Given the description of an element on the screen output the (x, y) to click on. 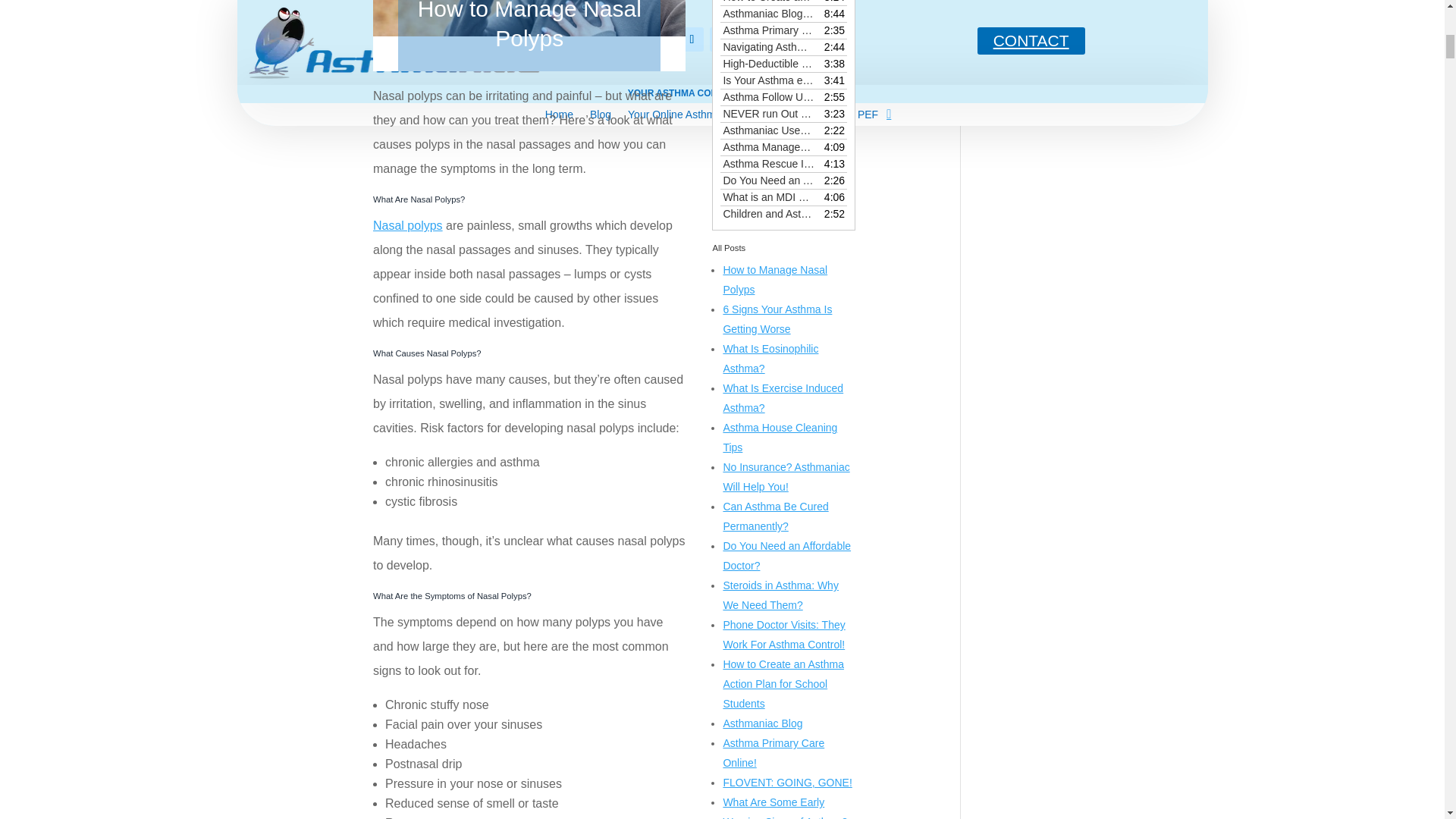
Nasal polyps (407, 225)
